Given the description of an element on the screen output the (x, y) to click on. 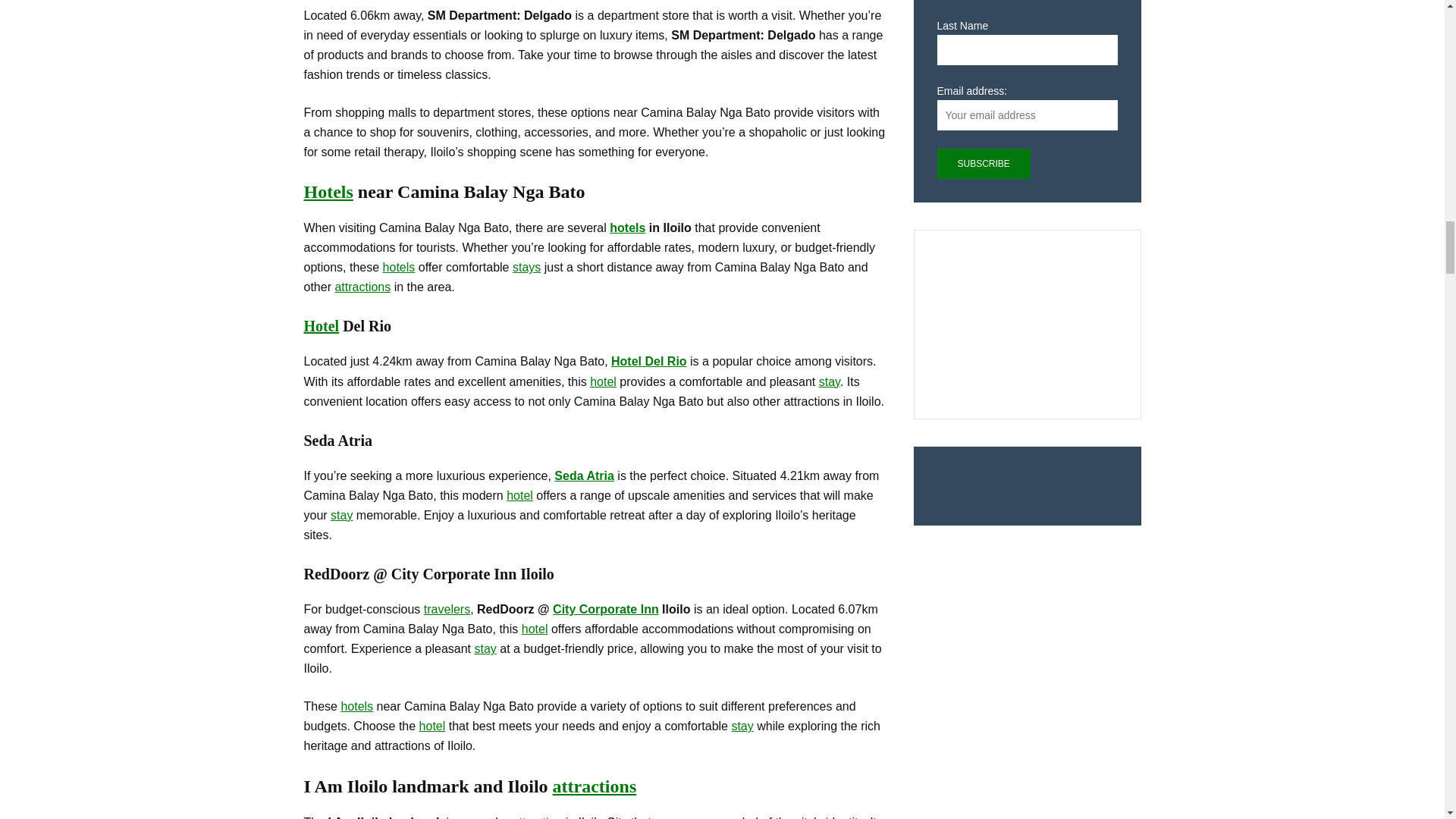
Subscribe (983, 163)
